Given the description of an element on the screen output the (x, y) to click on. 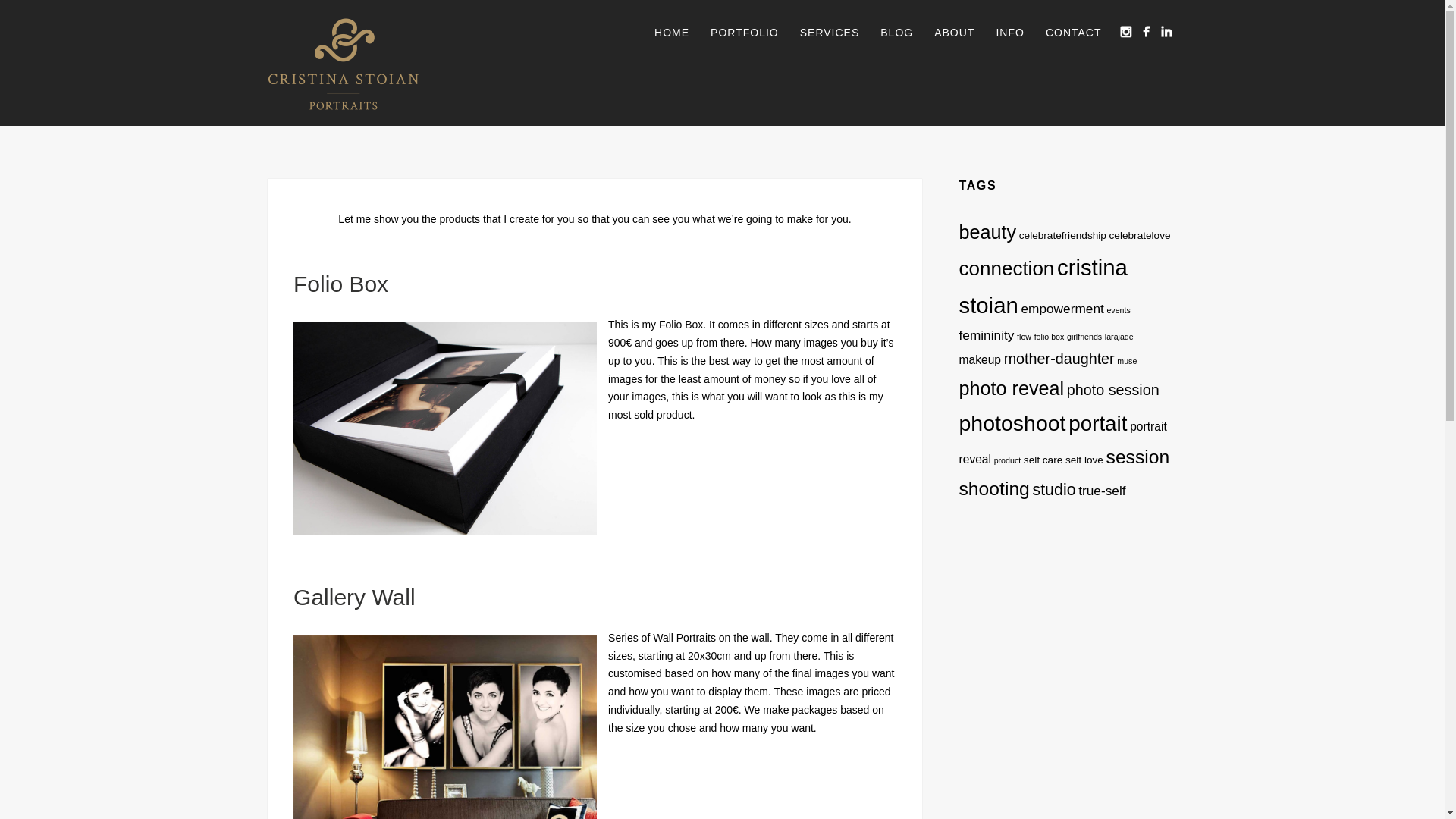
My Daily Instagram (1125, 31)
PORTFOLIO (744, 33)
beauty (987, 231)
FB Page (1144, 31)
product (1008, 460)
HOME (671, 33)
photoshoot (1011, 422)
flow (1023, 336)
celebratelove (1139, 235)
femininity (985, 335)
CONTACT (1073, 33)
mother-daughter (1059, 358)
connection (1006, 268)
cristina stoian (1042, 285)
photo reveal (1011, 387)
